Given the description of an element on the screen output the (x, y) to click on. 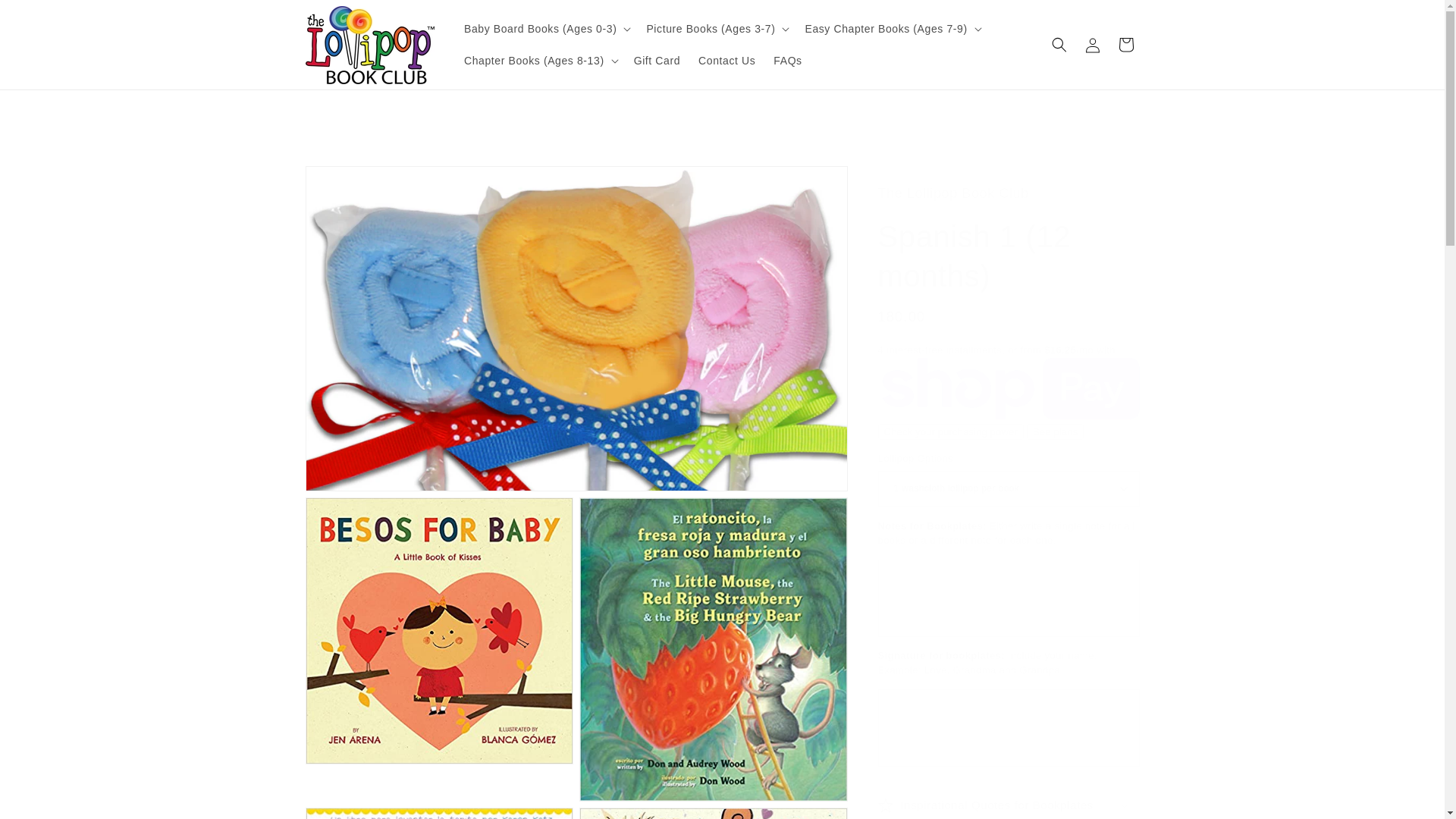
Open media 4 in modal (438, 813)
Open media 5 in modal (713, 813)
Skip to content (45, 17)
